Given the description of an element on the screen output the (x, y) to click on. 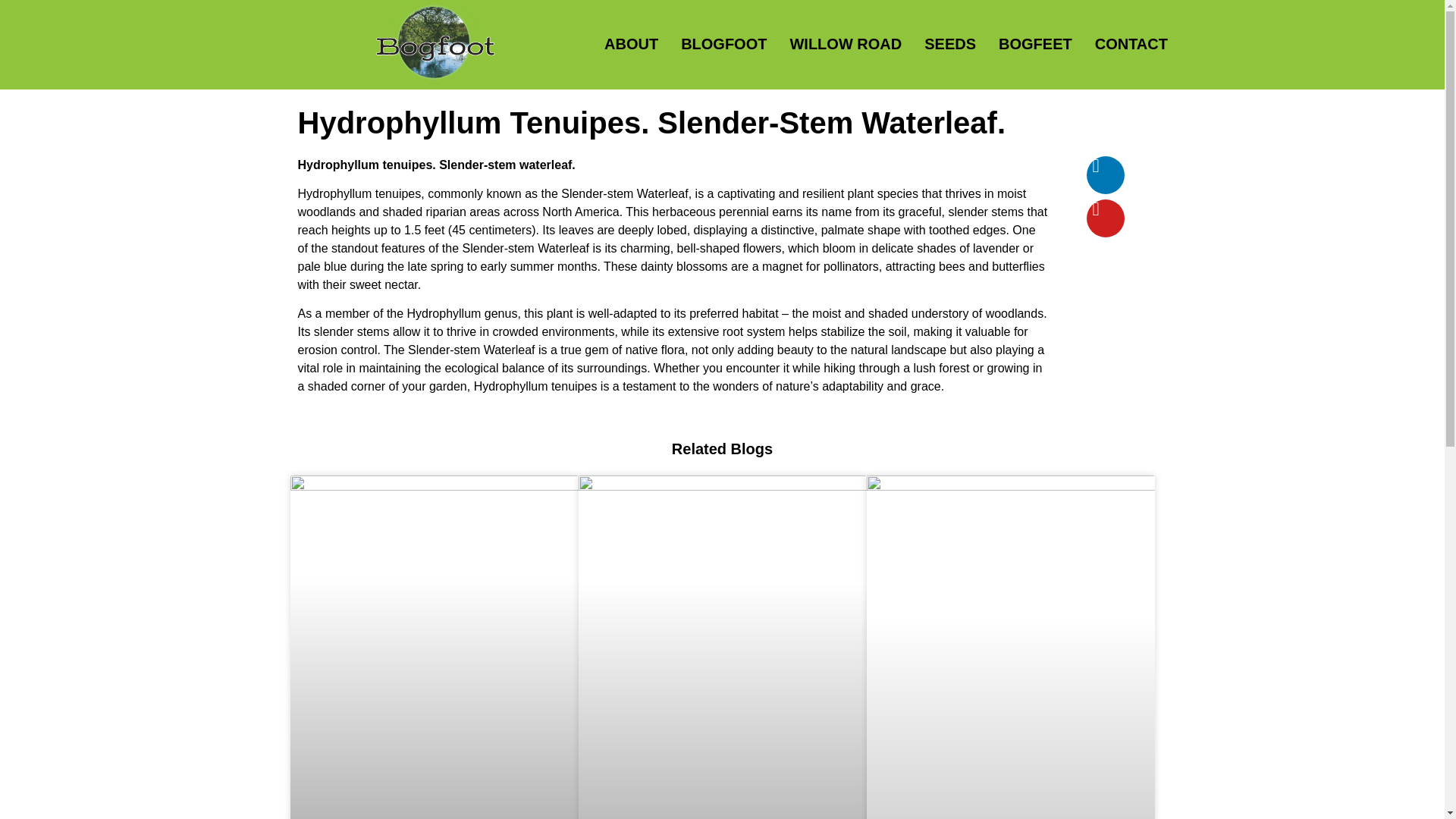
SEEDS (949, 44)
BLOGFOOT (723, 44)
BOGFEET (1035, 44)
WILLOW ROAD (845, 44)
CONTACT (1131, 44)
ABOUT (630, 44)
